Given the description of an element on the screen output the (x, y) to click on. 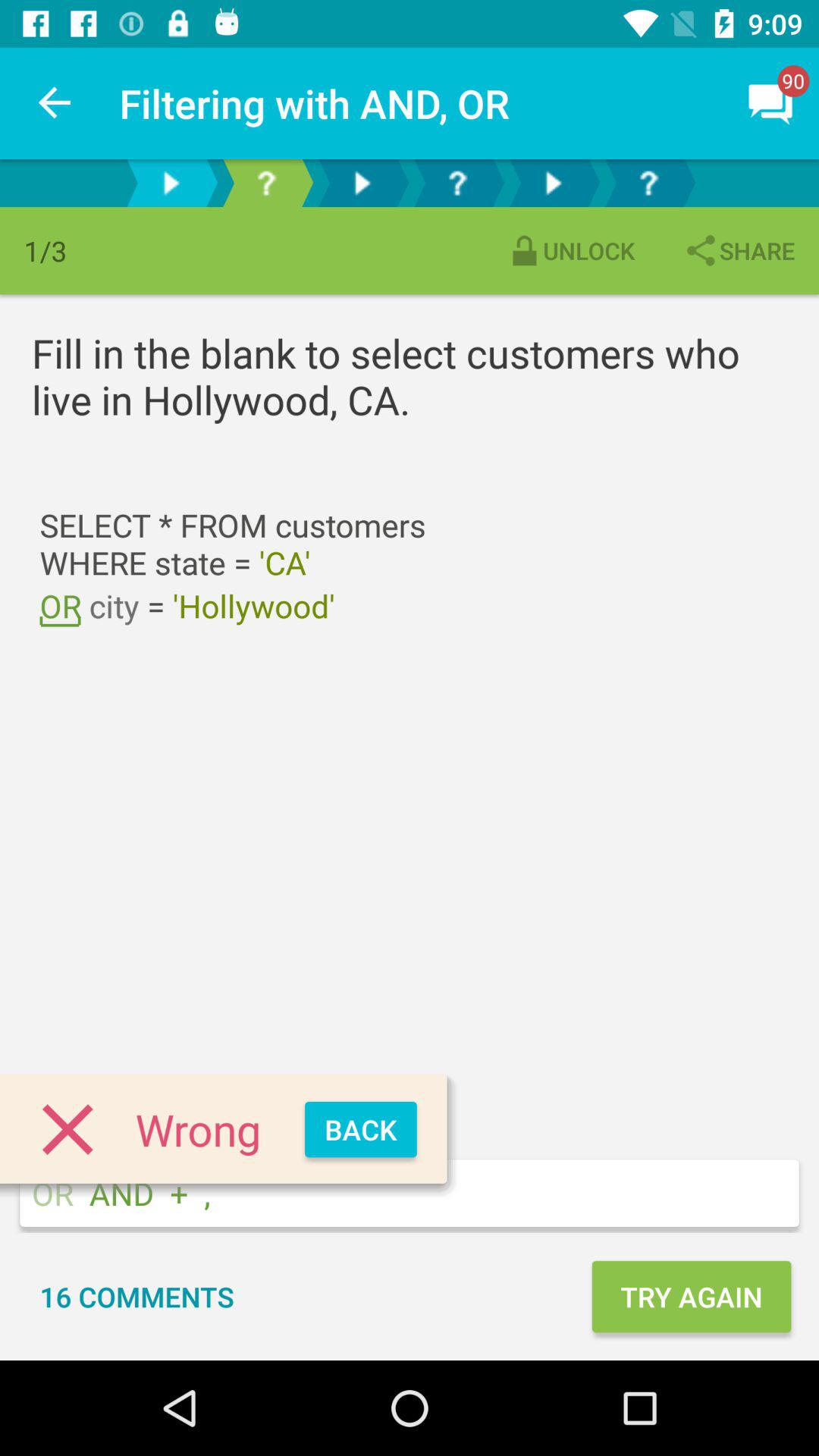
go back (361, 183)
